Given the description of an element on the screen output the (x, y) to click on. 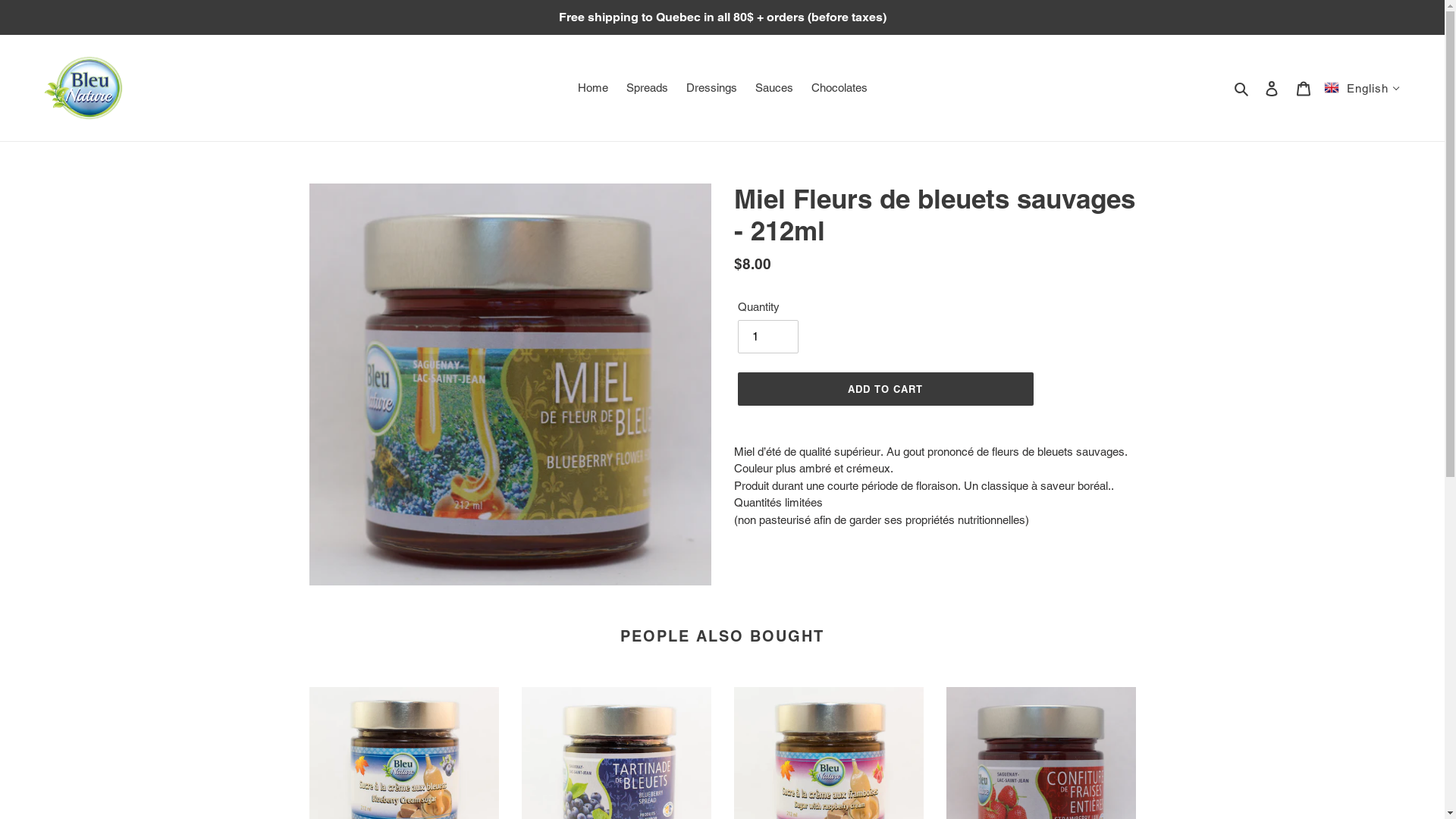
ADD TO CART Element type: text (884, 388)
Search Element type: text (1242, 87)
Chocolates Element type: text (839, 88)
Log in Element type: text (1271, 88)
Home Element type: text (592, 88)
Spreads Element type: text (646, 88)
Sauces Element type: text (773, 88)
Cart Element type: text (1303, 88)
Dressings Element type: text (710, 88)
